Given the description of an element on the screen output the (x, y) to click on. 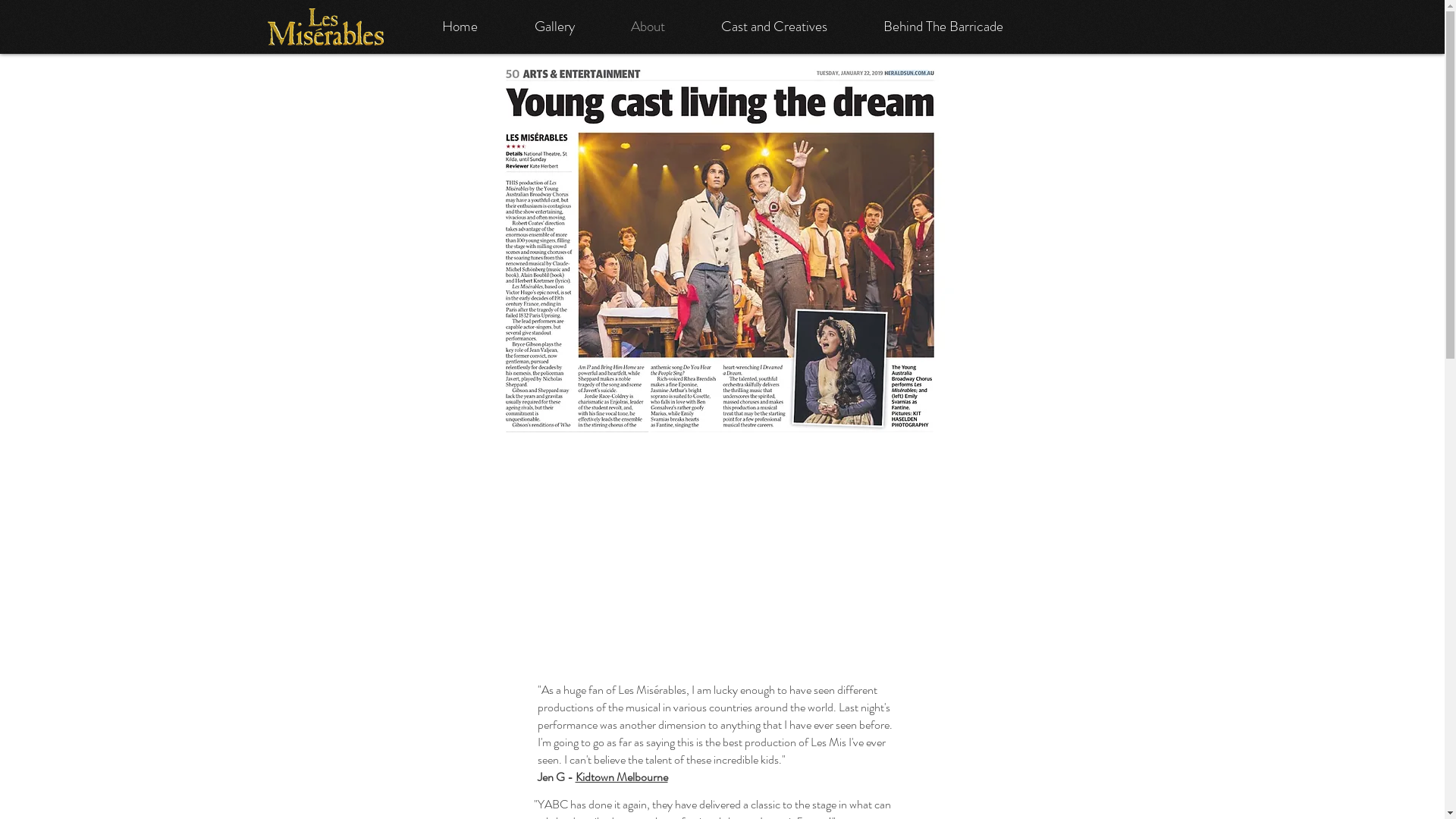
Gallery Element type: text (554, 26)
About Element type: text (647, 26)
Behind The Barricade Element type: text (943, 26)
External Facebook Element type: hover (718, 553)
Home Element type: text (460, 26)
Cast and Creatives Element type: text (774, 26)
Kidtown Melbourne Element type: text (620, 776)
